Given the description of an element on the screen output the (x, y) to click on. 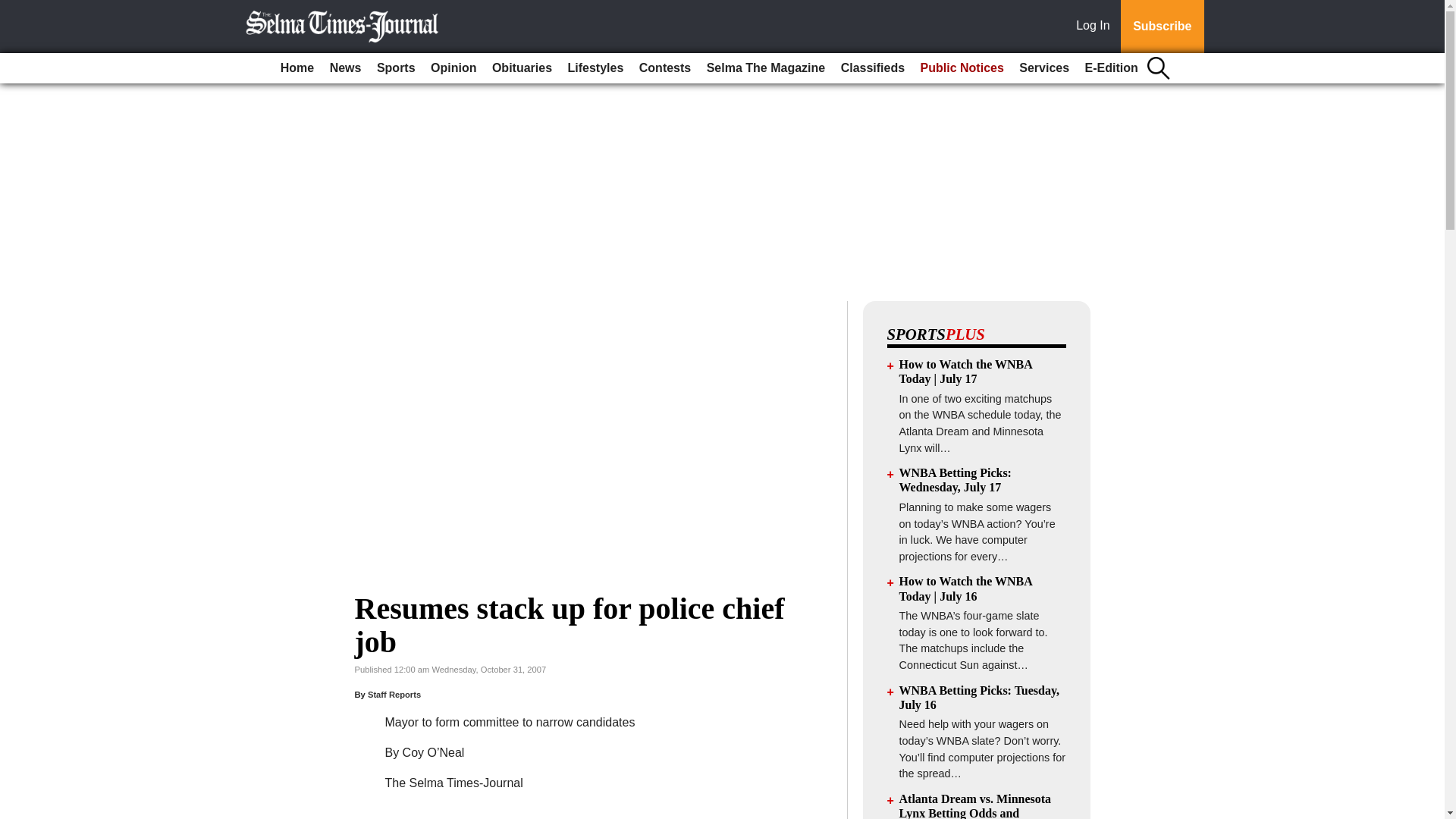
Sports (396, 68)
Services (1044, 68)
Subscribe (1162, 26)
Public Notices (962, 68)
Contests (665, 68)
Go (13, 9)
Staff Reports (394, 694)
Opinion (453, 68)
Selma The Magazine (765, 68)
WNBA Betting Picks: Tuesday, July 16 (979, 697)
Classifieds (872, 68)
Obituaries (521, 68)
E-Edition (1111, 68)
Home (297, 68)
Lifestyles (596, 68)
